Given the description of an element on the screen output the (x, y) to click on. 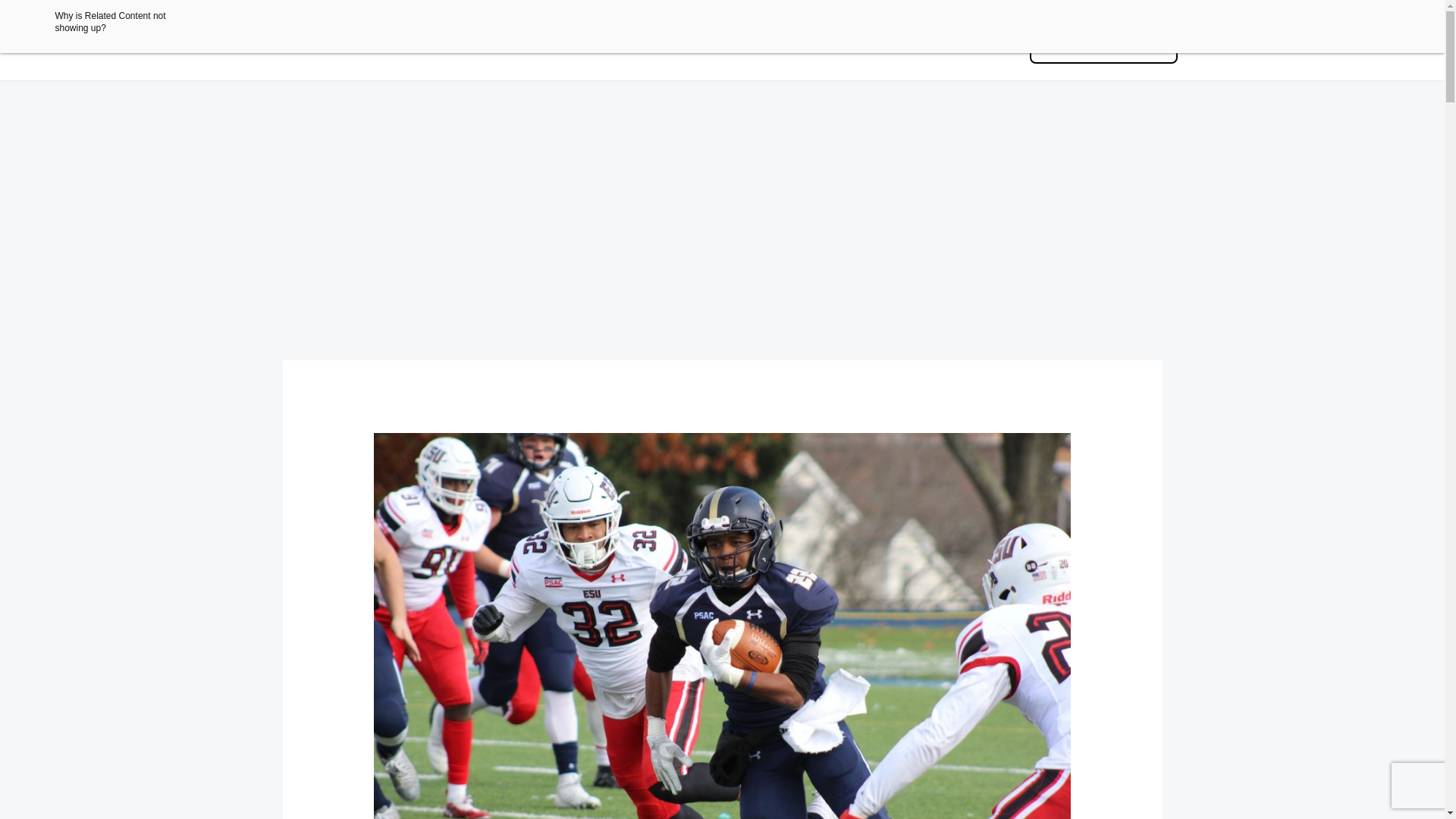
Blogs (981, 43)
Courses (569, 43)
Home (503, 43)
Scholarships (663, 43)
LinkedIn optimization (871, 43)
Schedule a Call (1103, 46)
Interview (757, 43)
